Given the description of an element on the screen output the (x, y) to click on. 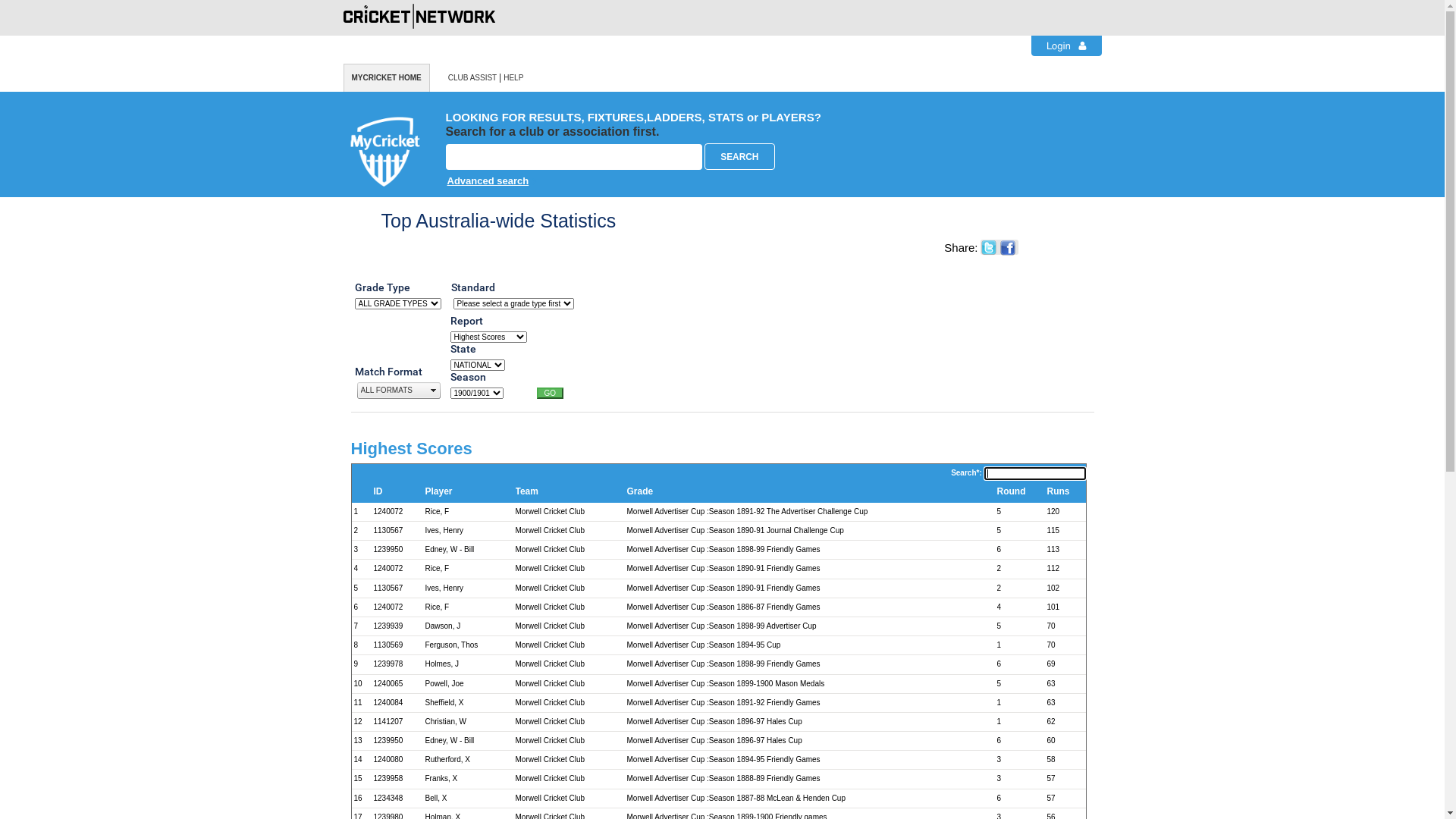
Grade Element type: text (809, 492)
Advanced search Element type: text (633, 178)
ID Element type: text (397, 492)
MYCRICKET HOME Element type: text (385, 77)
Search Element type: text (739, 156)
select Element type: text (433, 390)
Tweet this Element type: hover (989, 247)
Share on Facebook Element type: hover (1007, 248)
GO Element type: text (550, 392)
Team Element type: text (568, 492)
CLUB ASSIST Element type: text (472, 77)
Runs Element type: text (1064, 492)
Round Element type: text (1019, 492)
HELP Element type: text (513, 77)
Player Element type: text (468, 492)
